Given the description of an element on the screen output the (x, y) to click on. 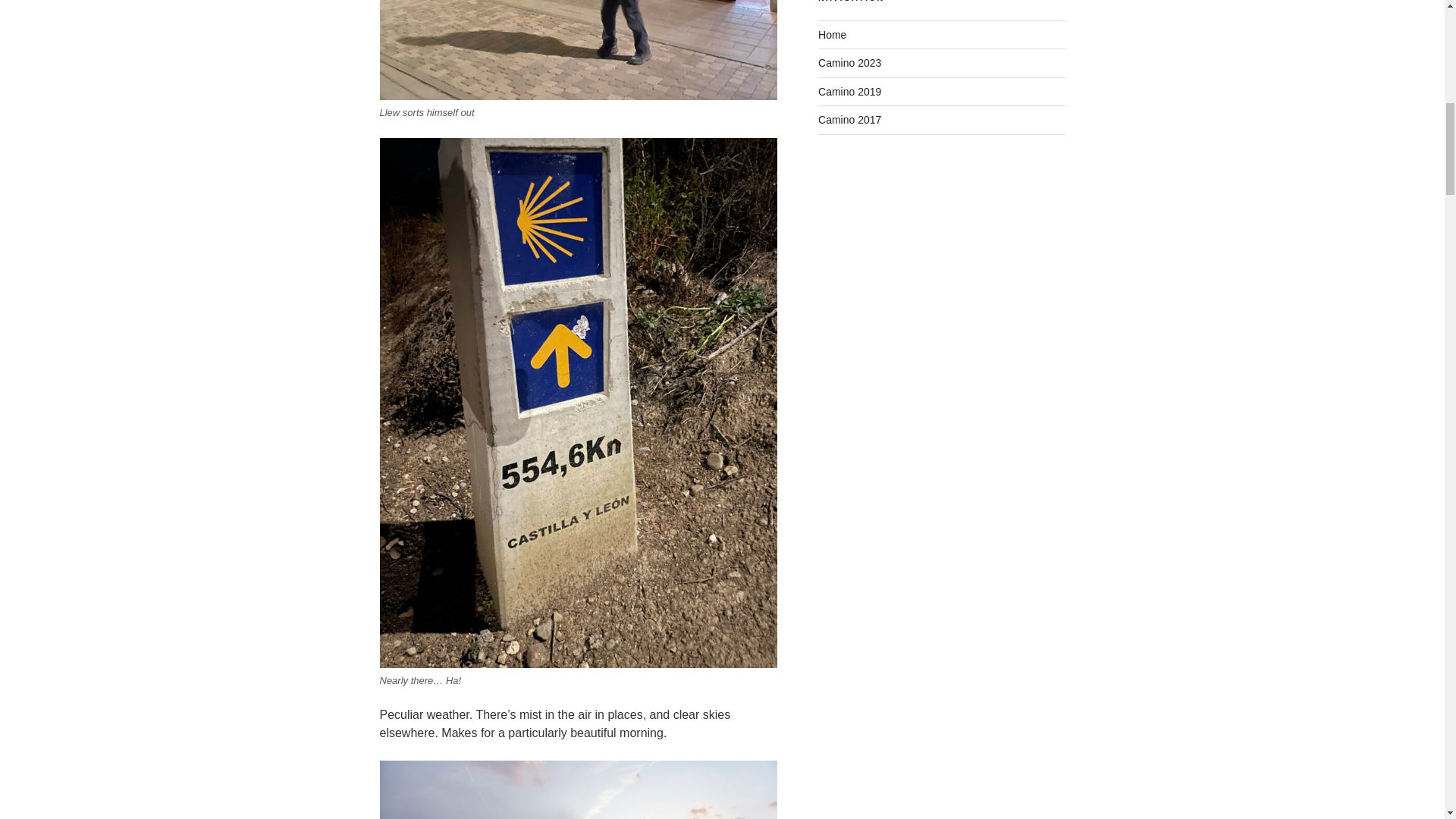
Camino 2023 (849, 62)
Camino 2017 (849, 119)
Camino 2019 (849, 91)
Home (831, 34)
